Given the description of an element on the screen output the (x, y) to click on. 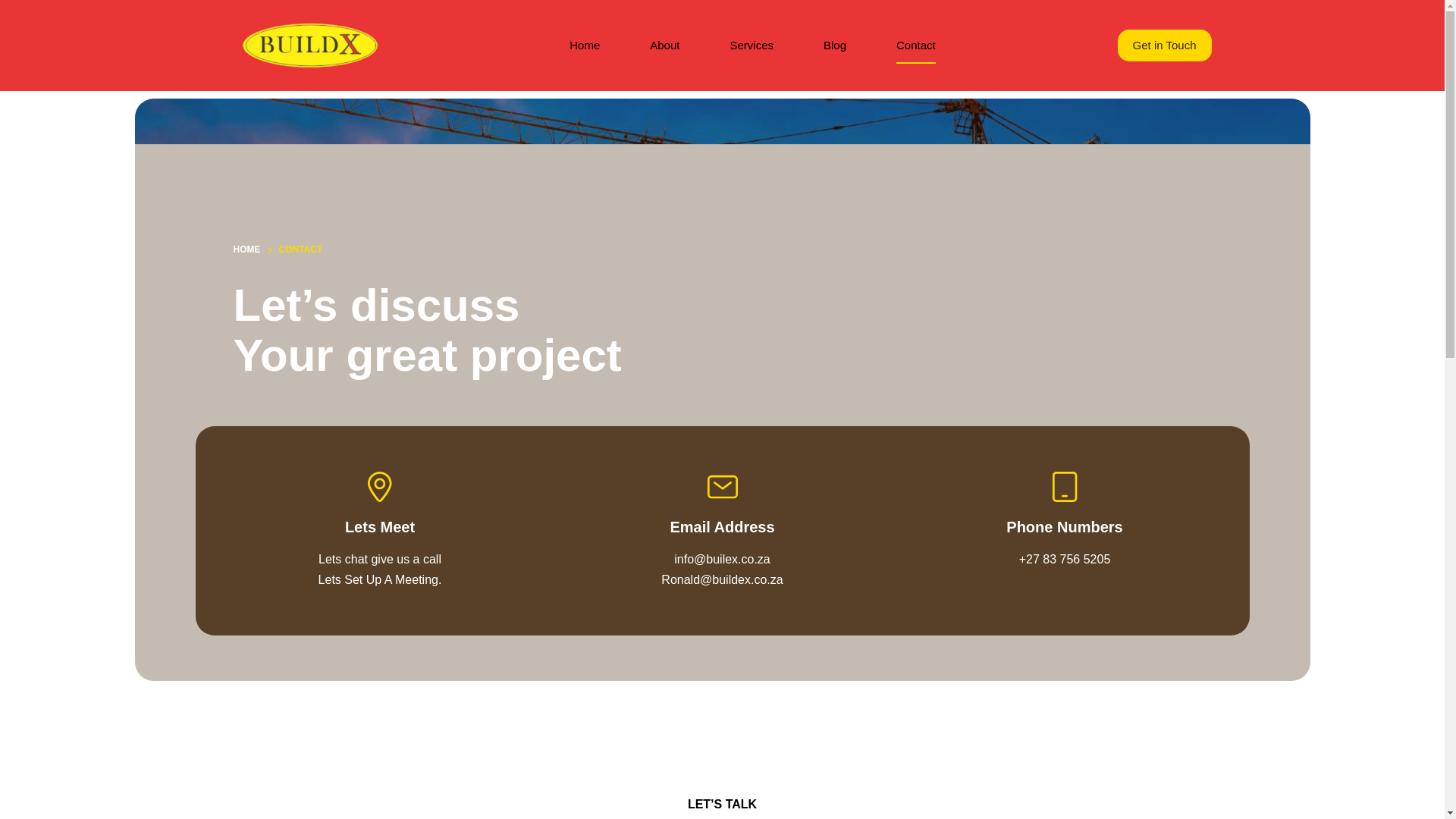
Skip to content (15, 7)
Get in Touch (1164, 45)
Lets Meet (379, 526)
Services (750, 45)
HOME (246, 249)
About (664, 45)
Home (584, 45)
Contact (915, 45)
Phone Numbers (1064, 526)
Email Address (721, 526)
Blog (833, 45)
